Given the description of an element on the screen output the (x, y) to click on. 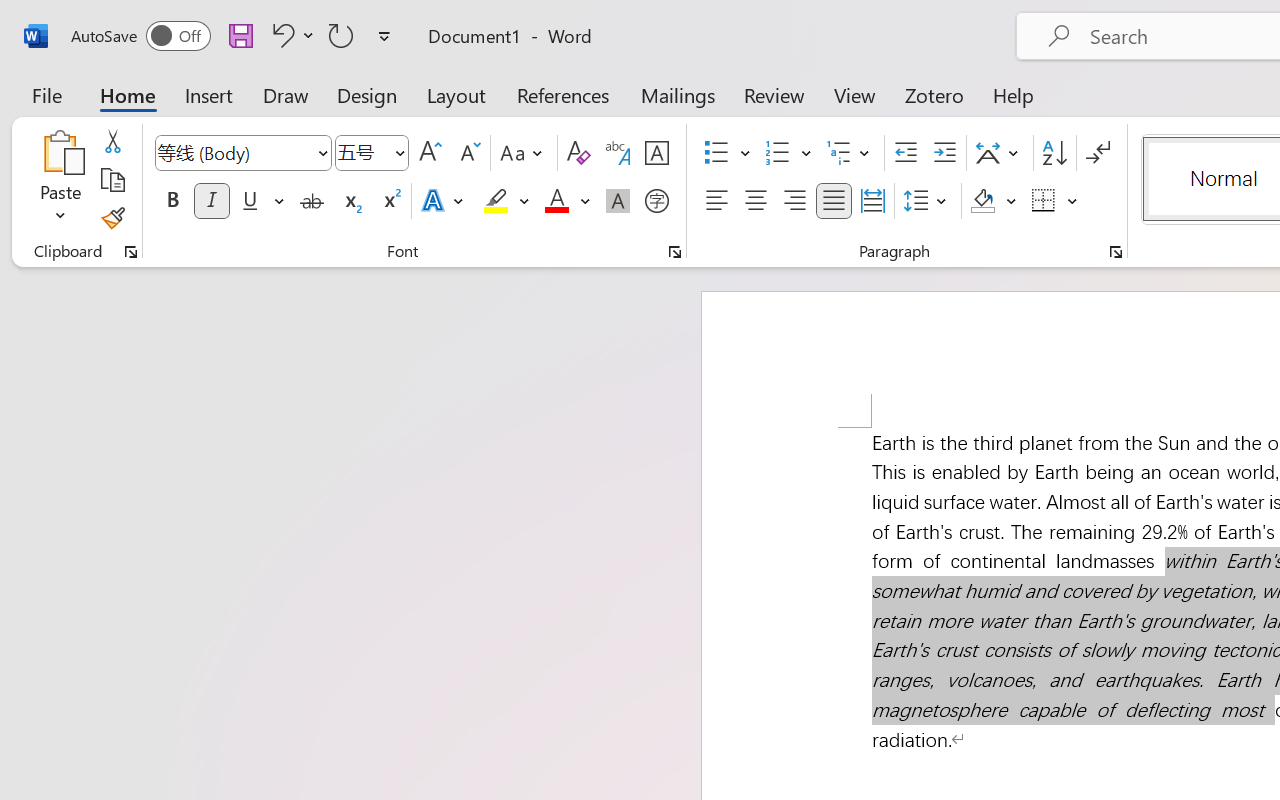
Align Right (794, 201)
Distributed (872, 201)
Character Border (656, 153)
Text Highlight Color (506, 201)
Undo Italic (280, 35)
Font Color (567, 201)
Strikethrough (312, 201)
Office Clipboard... (131, 252)
Open (399, 152)
Shrink Font (468, 153)
